Given the description of an element on the screen output the (x, y) to click on. 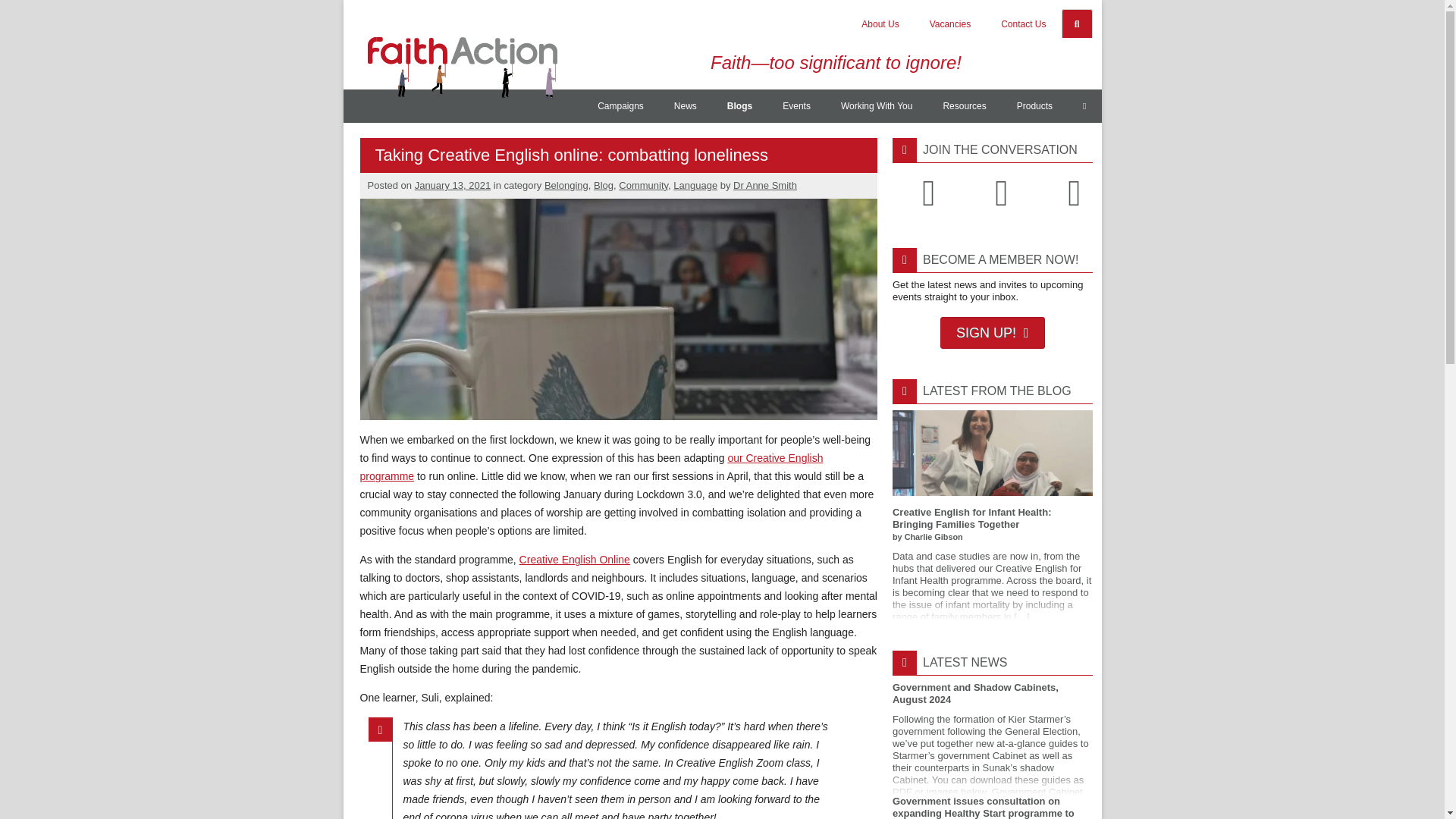
Campaigns (620, 105)
View all posts by Dr Anne Smith (764, 184)
Contact Us (1023, 24)
About Us (879, 24)
Working With You (876, 105)
Vacancies (949, 24)
Events (796, 105)
Follow us on LinkedIn (1074, 192)
Blogs (739, 105)
